Given the description of an element on the screen output the (x, y) to click on. 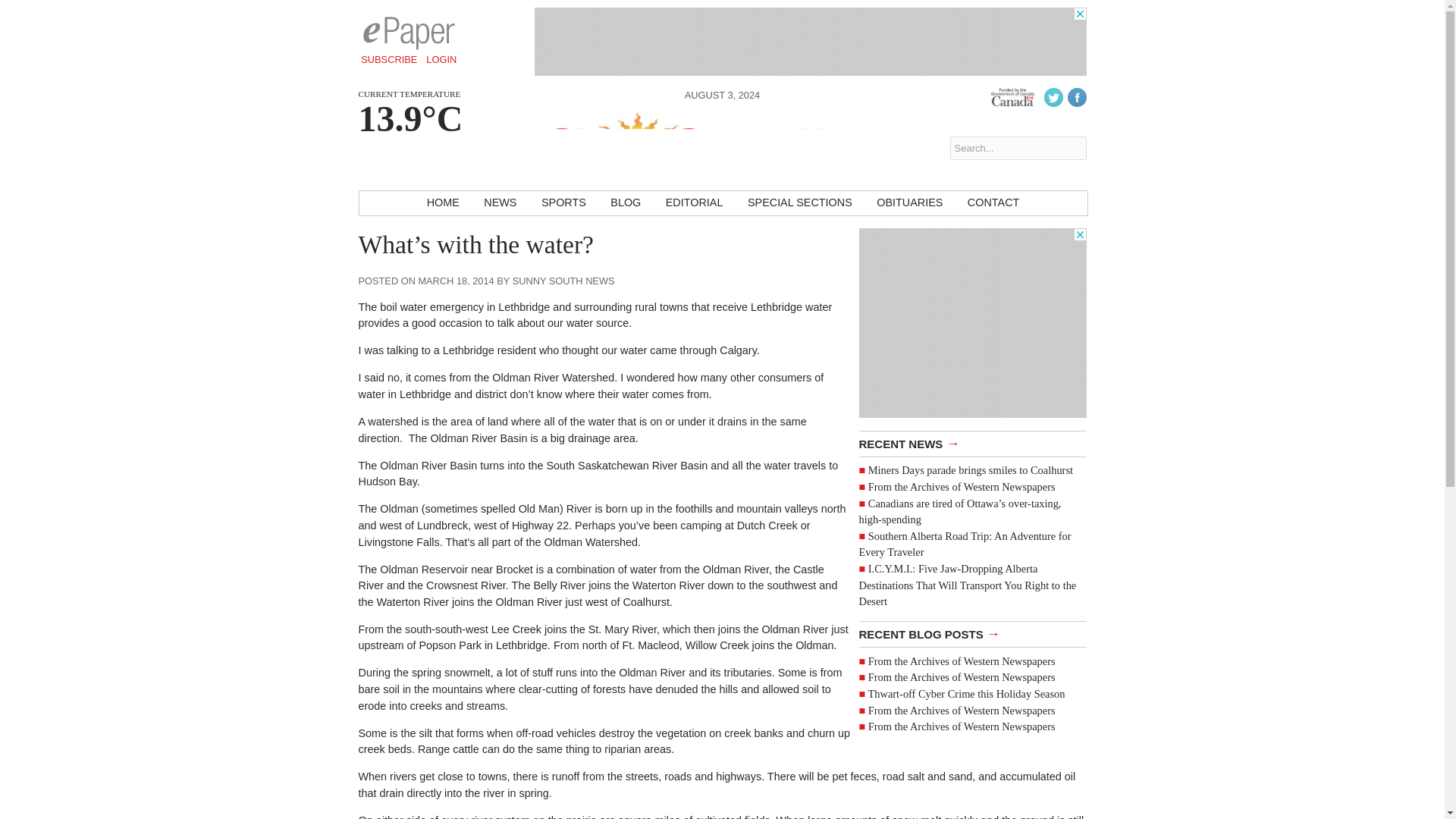
EDITORIAL (694, 202)
3rd party ad content (810, 41)
SUBSCRIBE (389, 58)
CONTACT (992, 202)
3rd party ad content (972, 322)
Southern Alberta Road Trip: An Adventure for Every Traveler (964, 543)
From the Archives of Western Newspapers (961, 676)
NEWS (500, 202)
From the Archives of Western Newspapers (961, 709)
From the Archives of Western Newspapers (961, 486)
OBITUARIES (909, 202)
HOME (443, 202)
From the Archives of Western Newspapers (961, 726)
BLOG (624, 202)
